Given the description of an element on the screen output the (x, y) to click on. 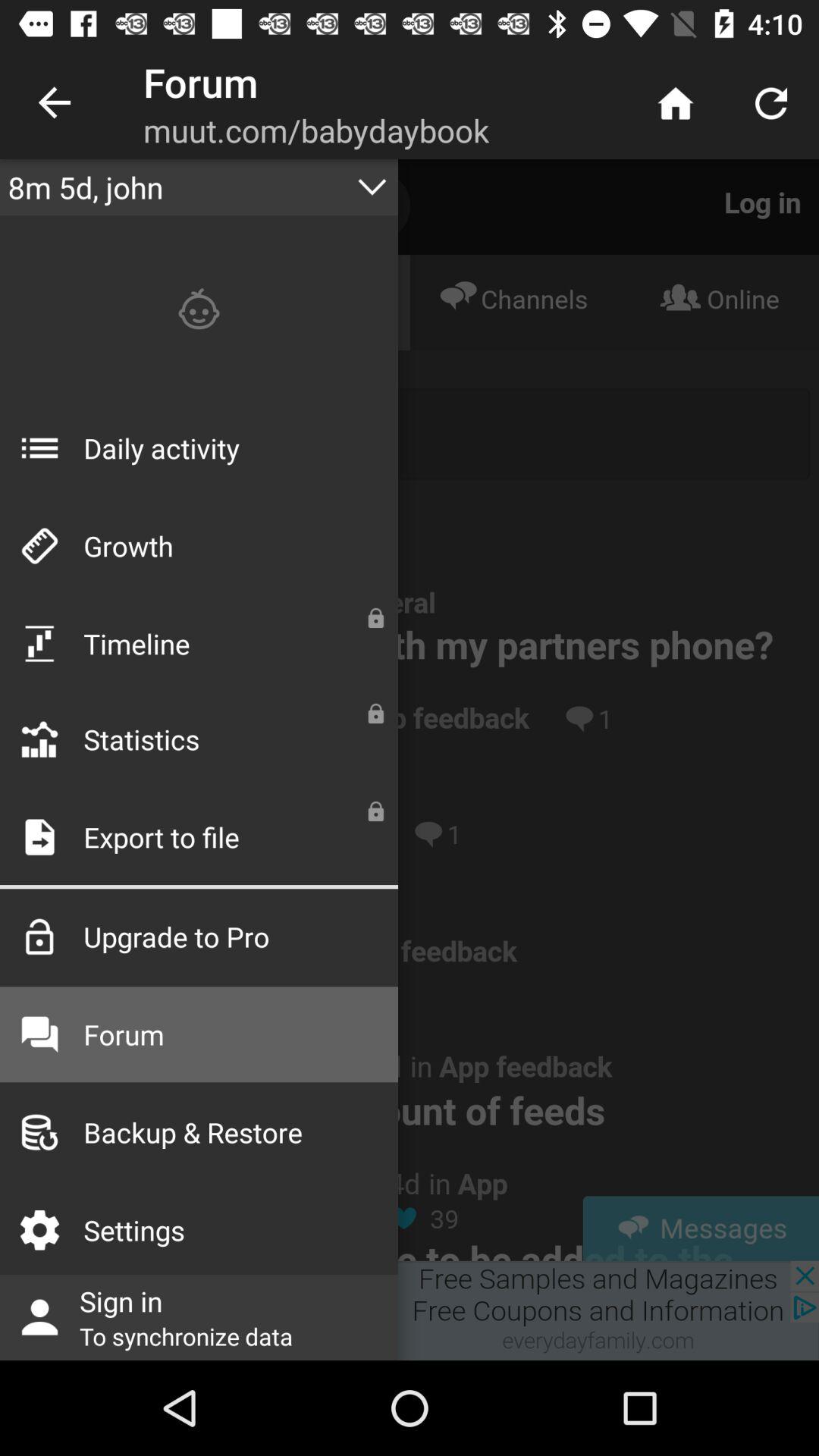
sign in with saved data (409, 1310)
